Given the description of an element on the screen output the (x, y) to click on. 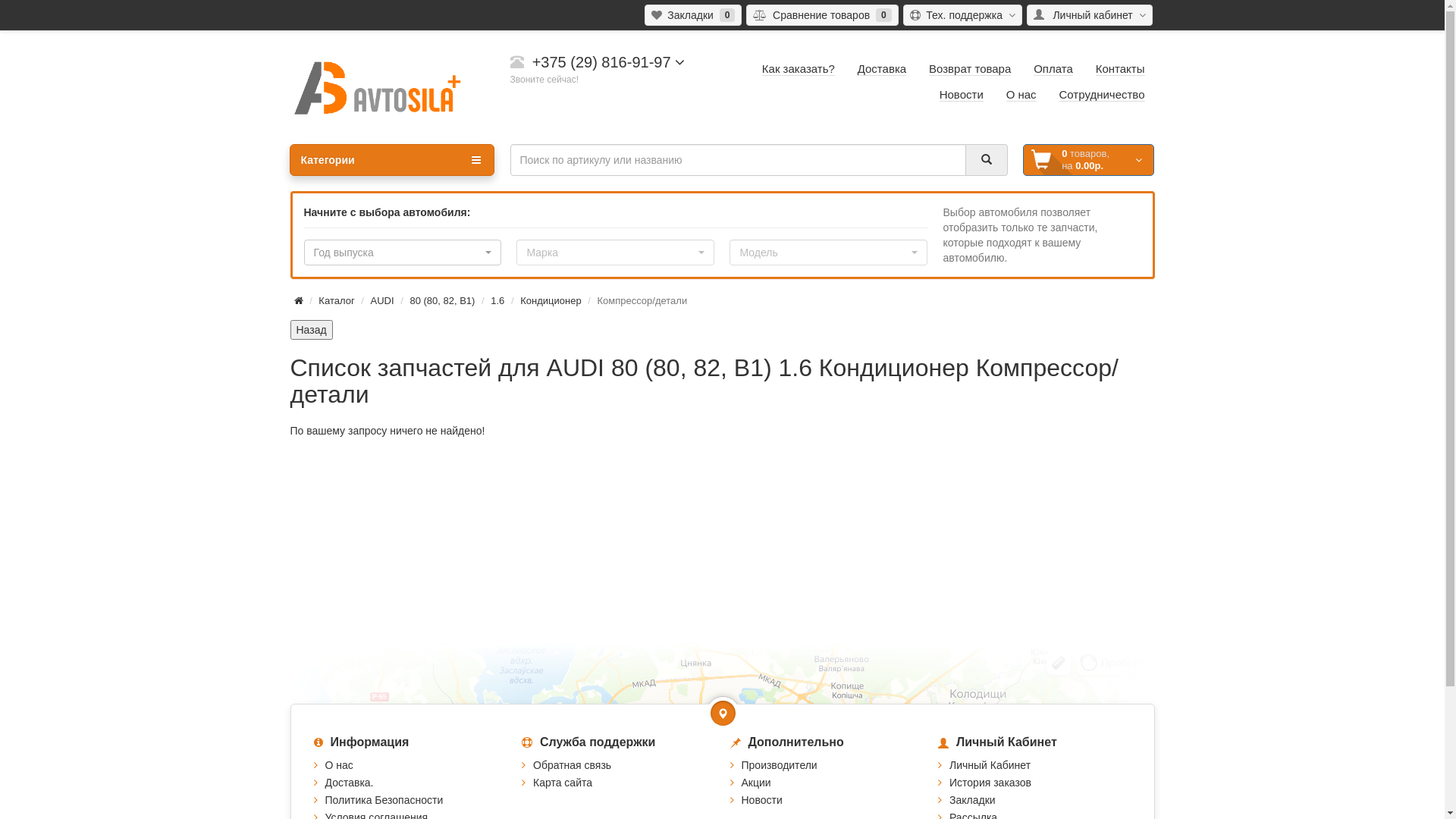
AUDI Element type: text (381, 300)
1.6 Element type: text (497, 300)
80 (80, 82, B1) Element type: text (441, 300)
